Given the description of an element on the screen output the (x, y) to click on. 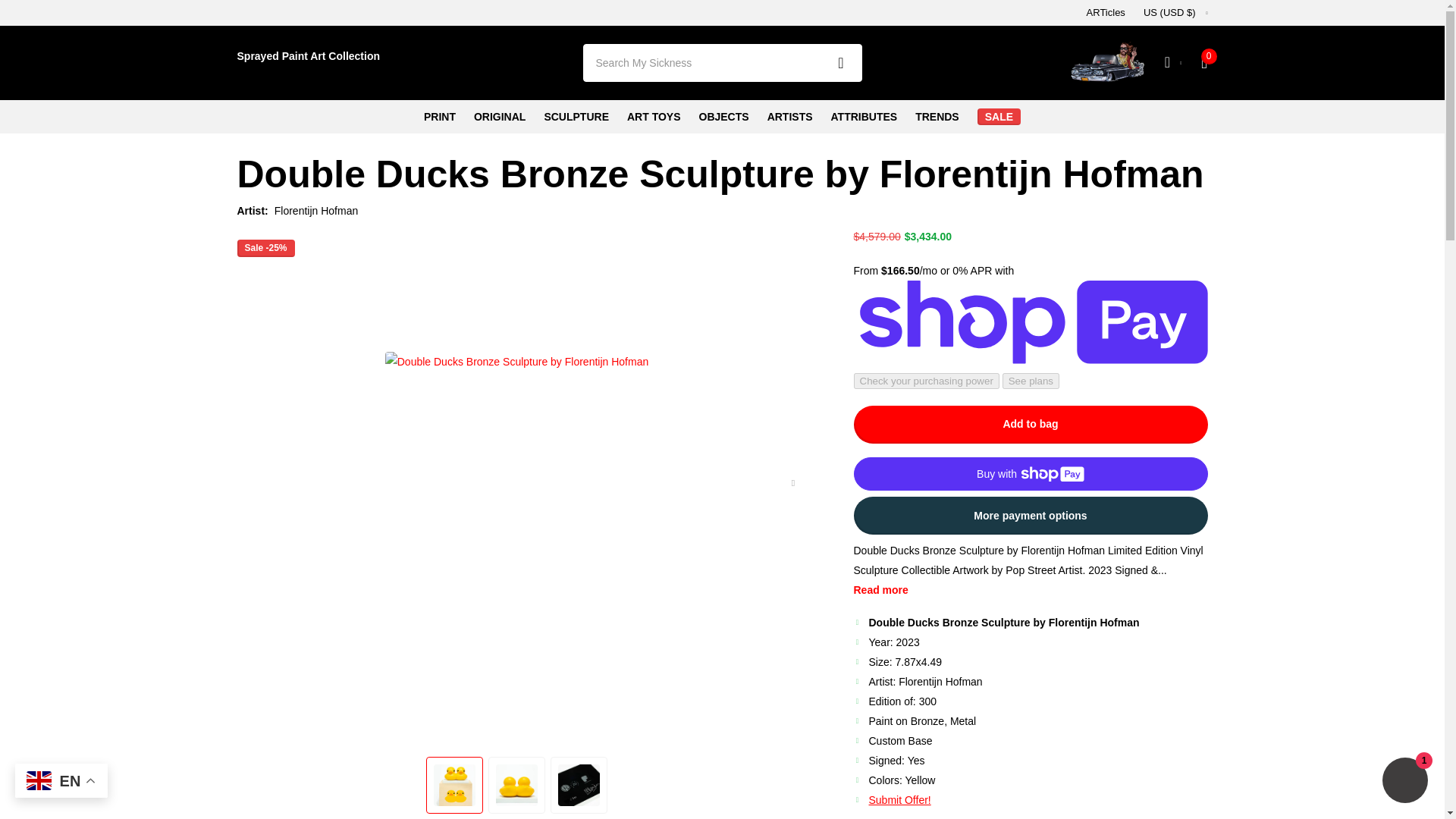
Submit Offer To Buy Graffiti Street Pop Artworks (900, 799)
ARTicles (1105, 12)
